Given the description of an element on the screen output the (x, y) to click on. 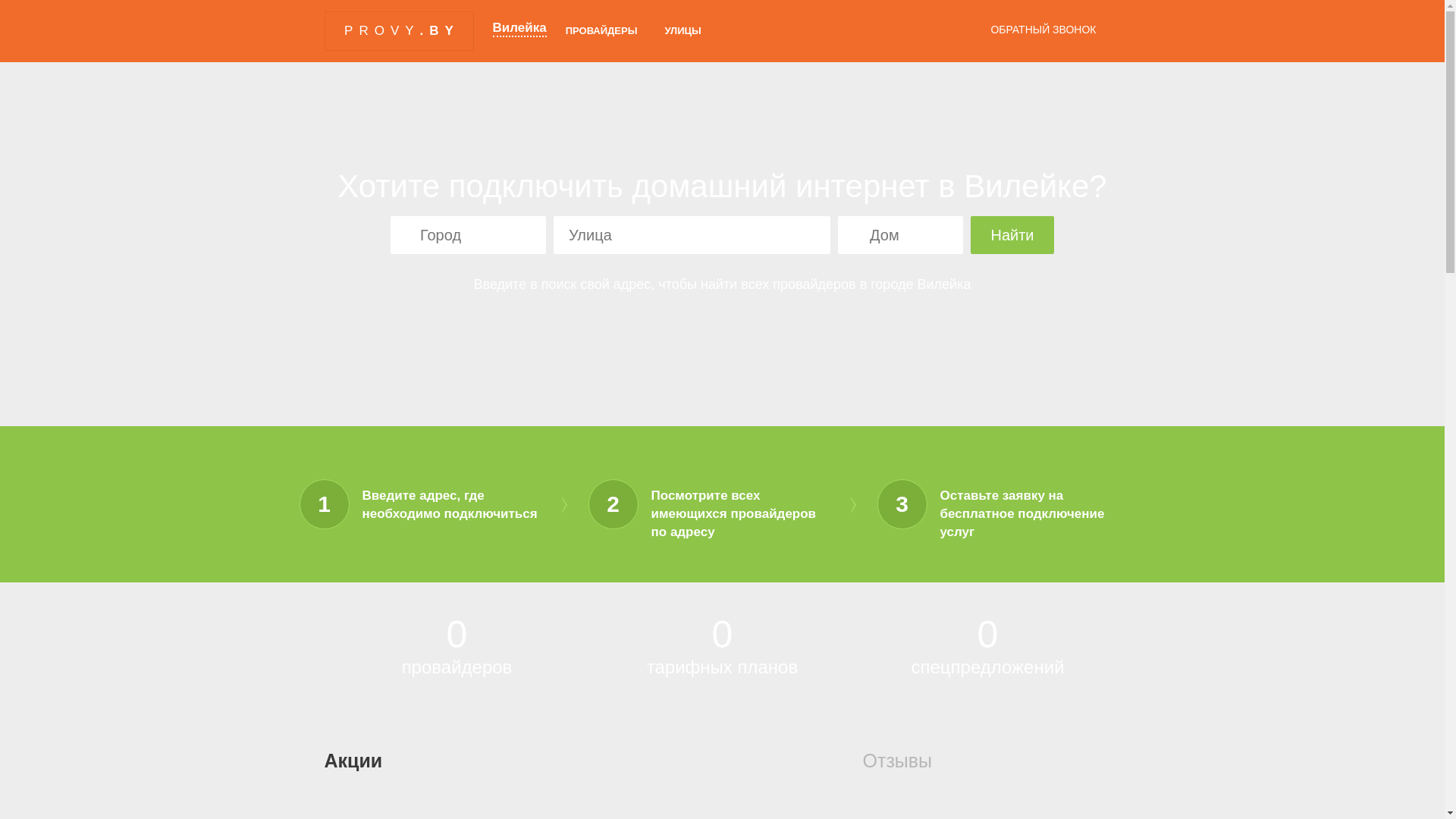
PROVY.BY Element type: text (398, 30)
